Given the description of an element on the screen output the (x, y) to click on. 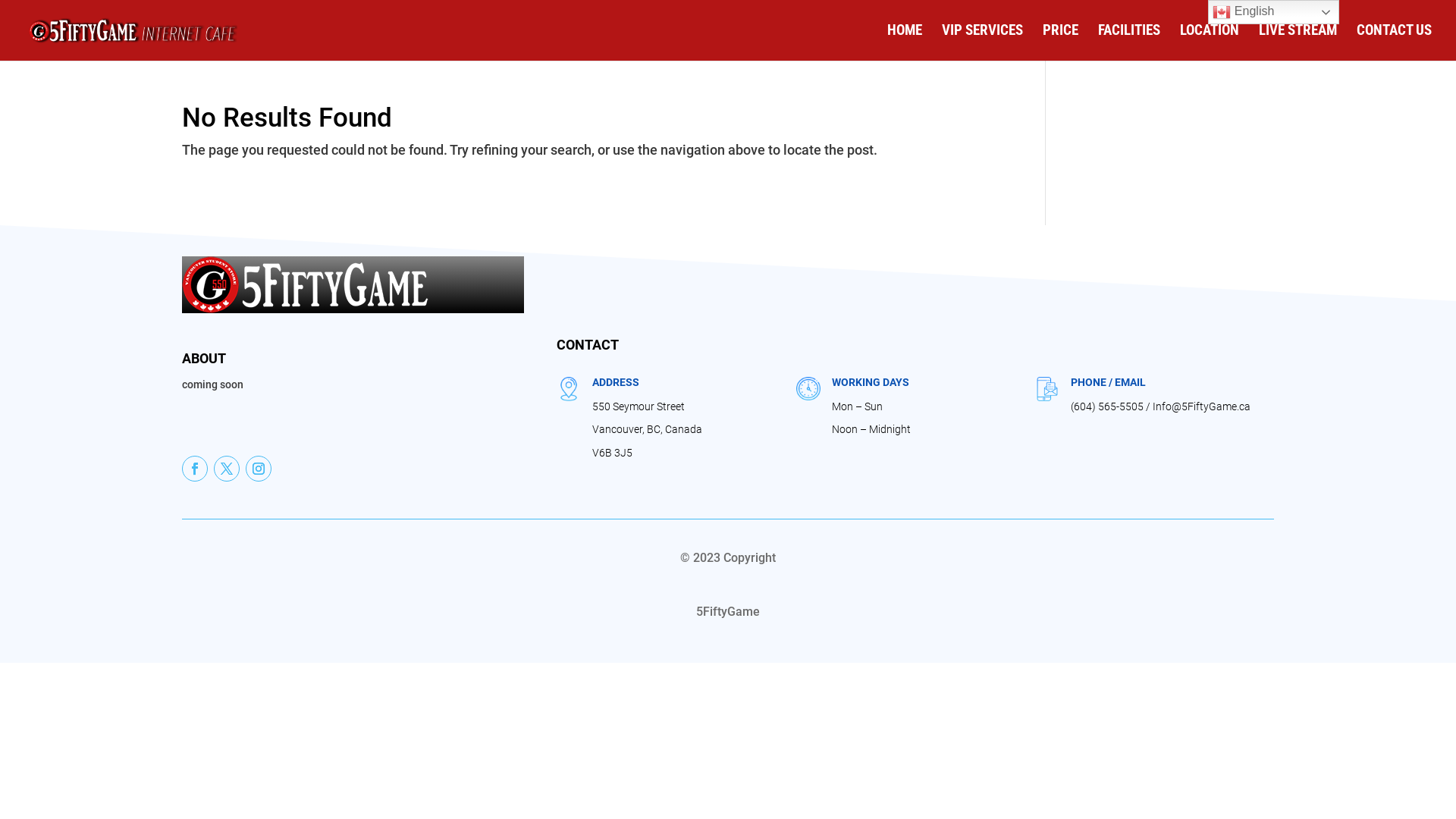
Follow on Facebook Element type: hover (194, 468)
5FiftyGame-sign-final-5-2-e1499477176228 small Element type: hover (305, 284)
CONTACT US Element type: text (1393, 42)
English Element type: text (1273, 12)
(604) 565-5505 Element type: text (1106, 406)
FACILITIES Element type: text (1129, 42)
Info@5FiftyGame.ca Element type: text (1201, 406)
VIP SERVICES Element type: text (981, 42)
HOME Element type: text (904, 42)
Follow on X Element type: hover (226, 468)
LOCATION Element type: text (1209, 42)
Follow on Instagram Element type: hover (258, 468)
LIVE STREAM Element type: text (1297, 42)
PRICE Element type: text (1060, 42)
